Given the description of an element on the screen output the (x, y) to click on. 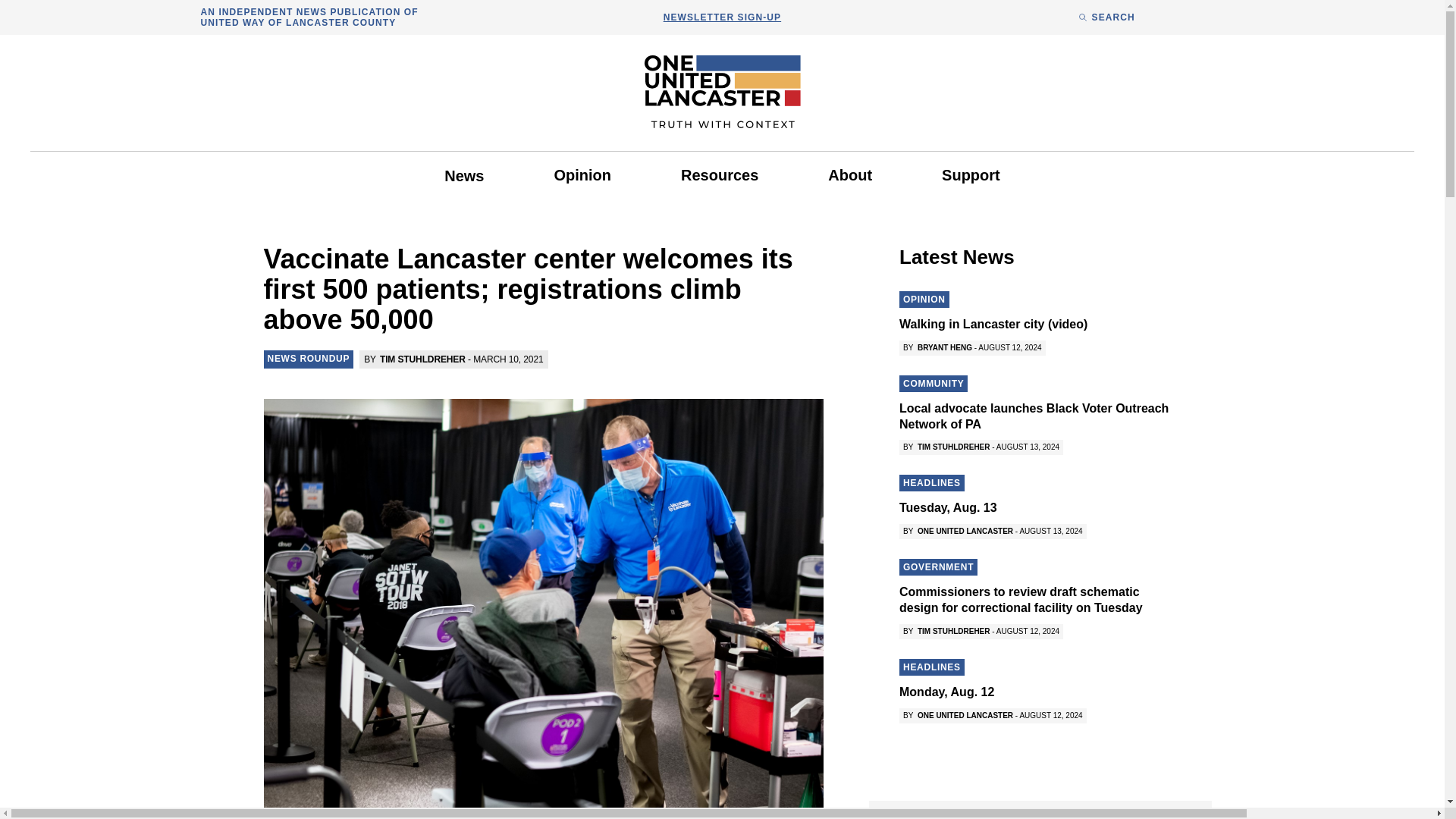
Resources (719, 175)
NEWSLETTER SIGN-UP (721, 17)
TIM STUHLDREHER (422, 358)
Search (888, 429)
News (464, 176)
NEWS ROUNDUP (307, 357)
Support (970, 175)
